Given the description of an element on the screen output the (x, y) to click on. 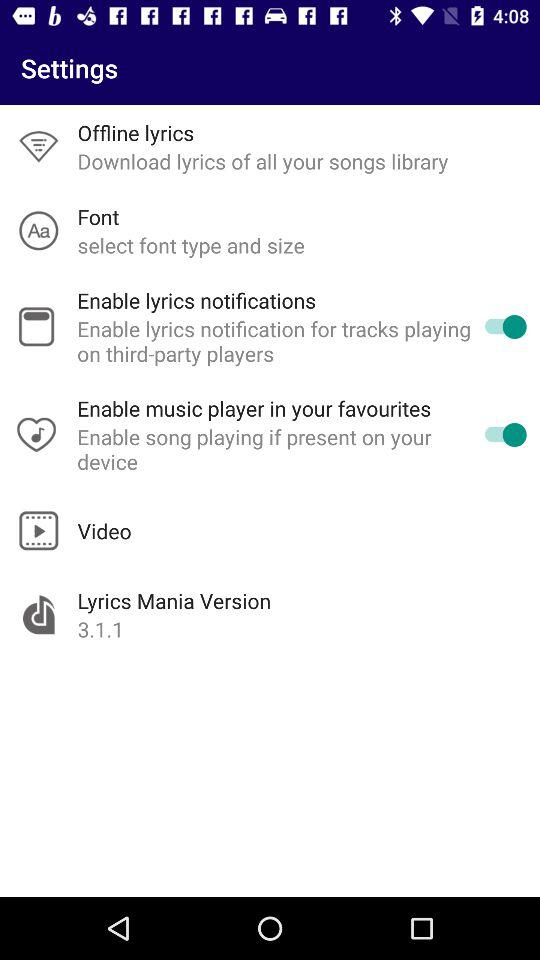
flip until lyrics mania version (174, 600)
